Given the description of an element on the screen output the (x, y) to click on. 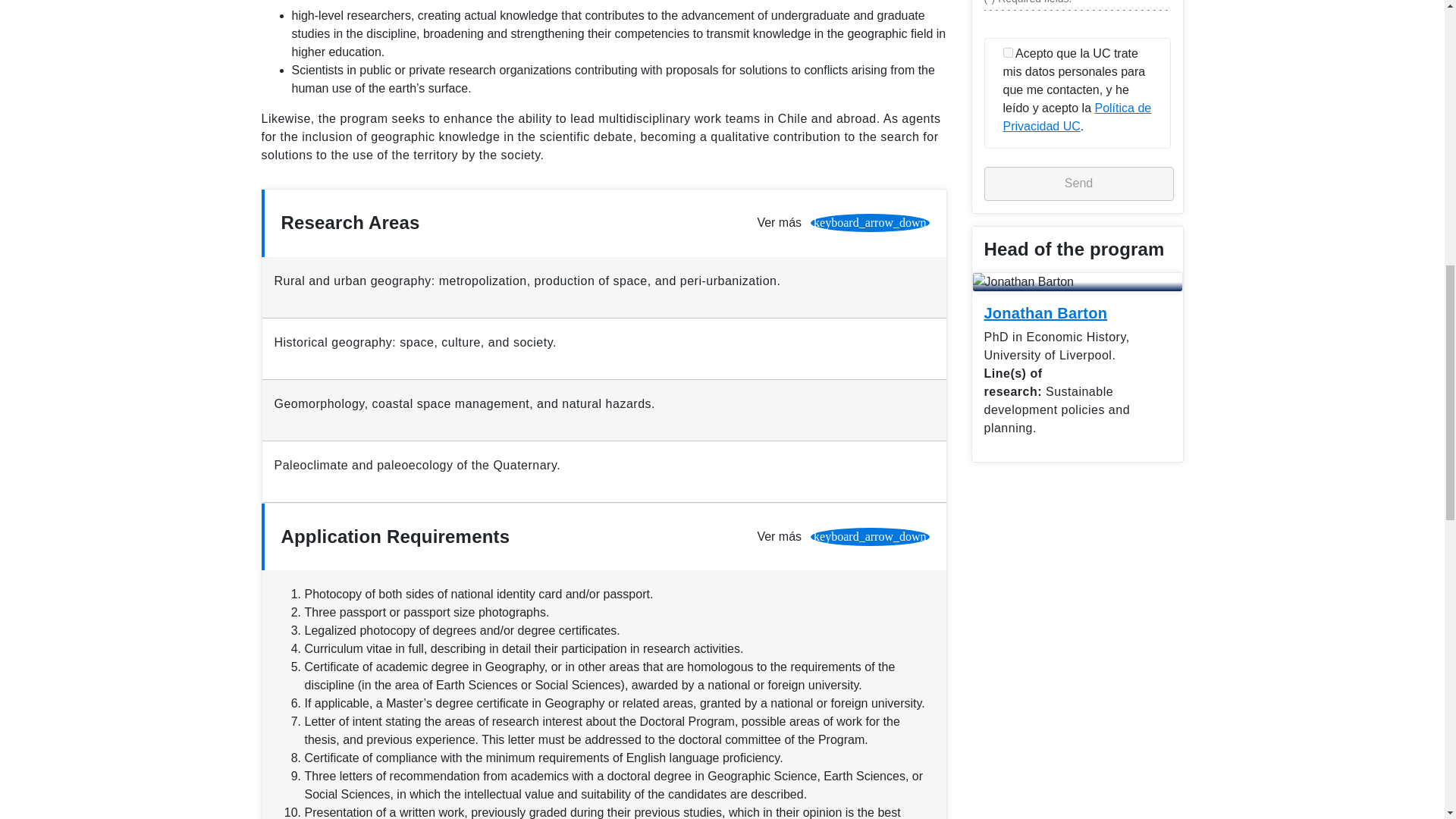
Send (1078, 183)
1 (1007, 52)
